Given the description of an element on the screen output the (x, y) to click on. 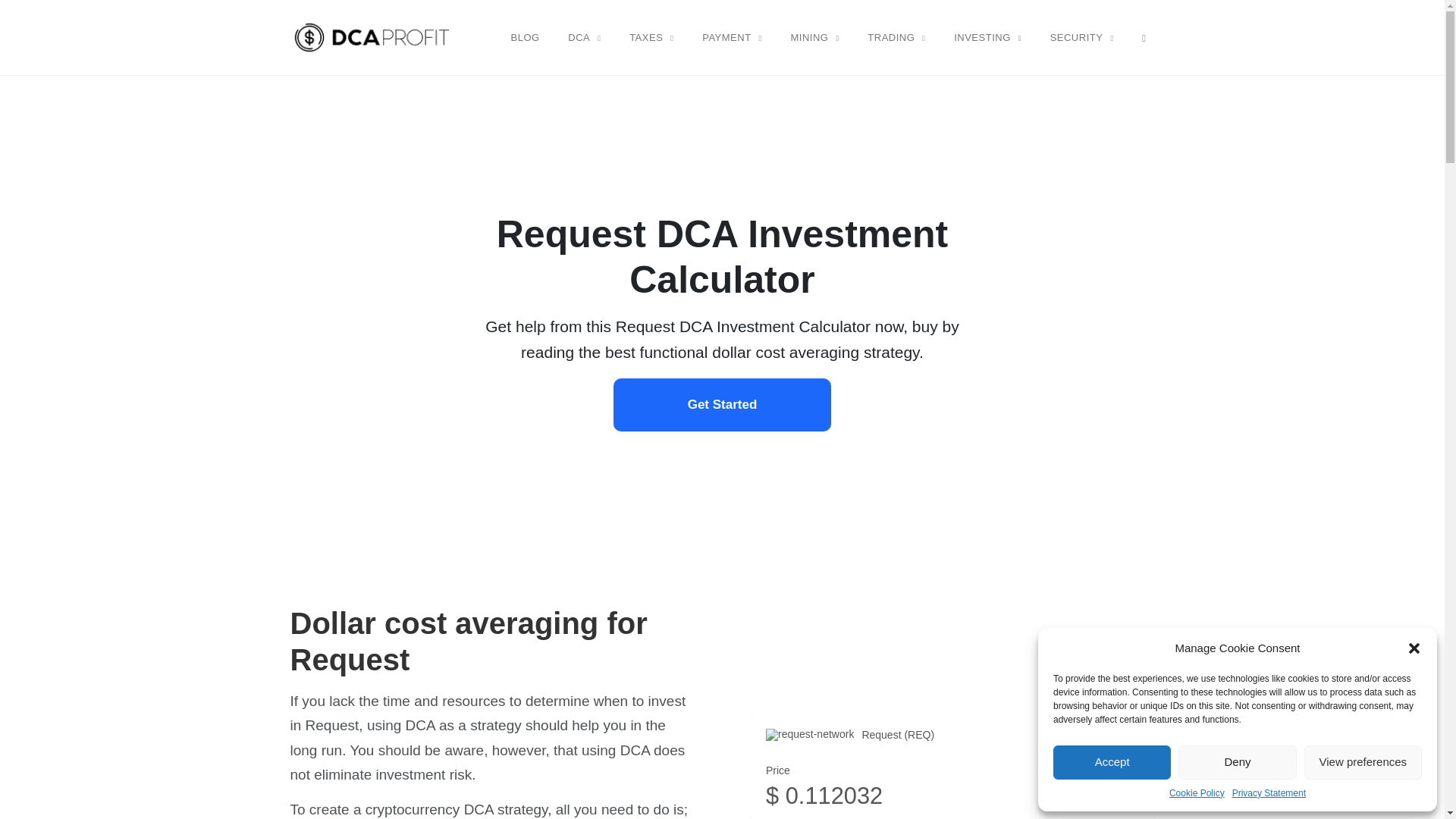
Cookie Policy (1196, 793)
Privacy Statement (1268, 793)
BLOG (525, 37)
Deny (1236, 762)
DCA (583, 37)
PAYMENT (732, 37)
TAXES (651, 37)
MINING (814, 37)
View preferences (1363, 762)
Accept (1111, 762)
DCA Profit (370, 37)
